Given the description of an element on the screen output the (x, y) to click on. 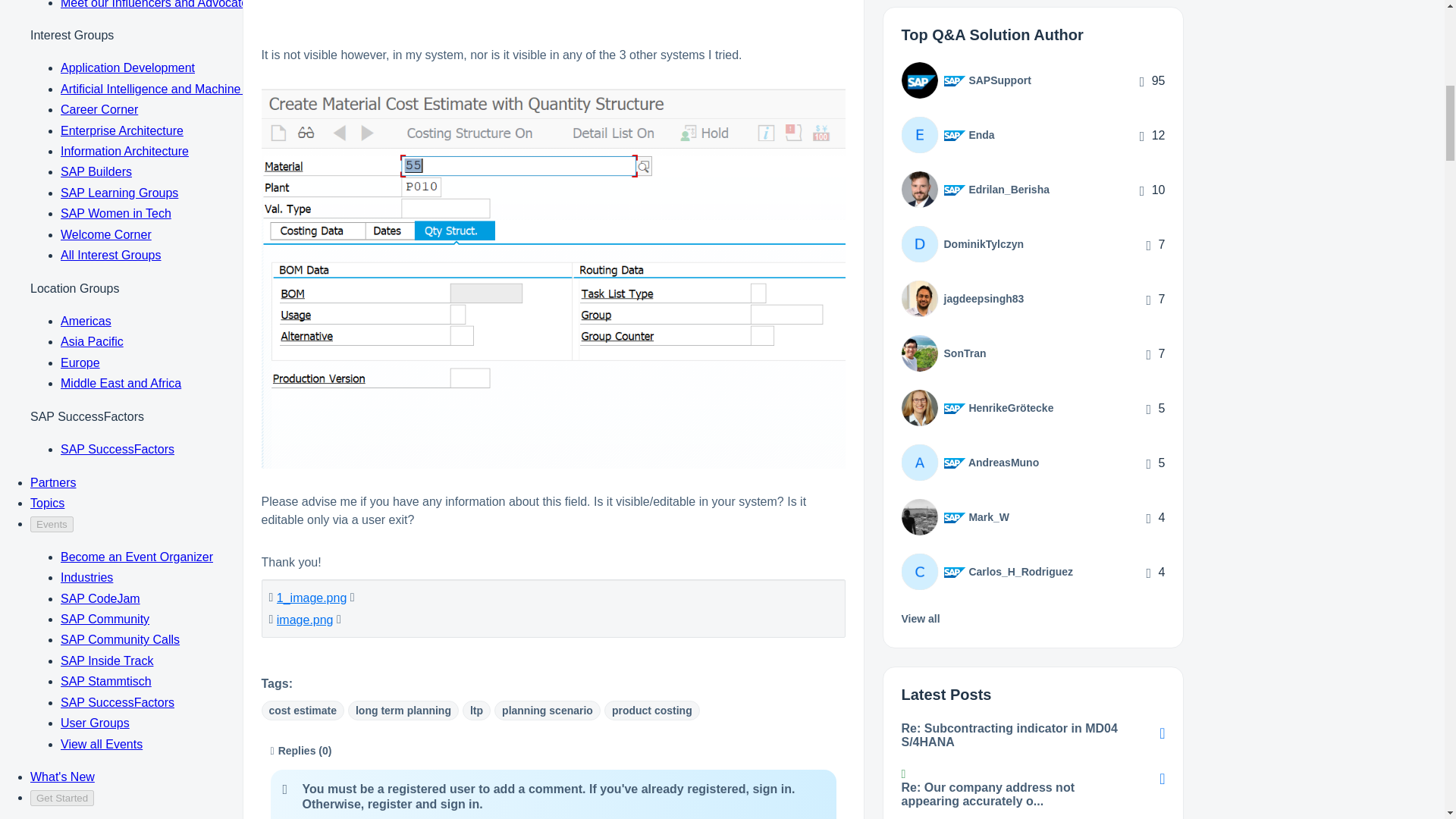
long term planning (402, 710)
cost estimate (301, 710)
image.png (304, 619)
ltp (476, 710)
